Given the description of an element on the screen output the (x, y) to click on. 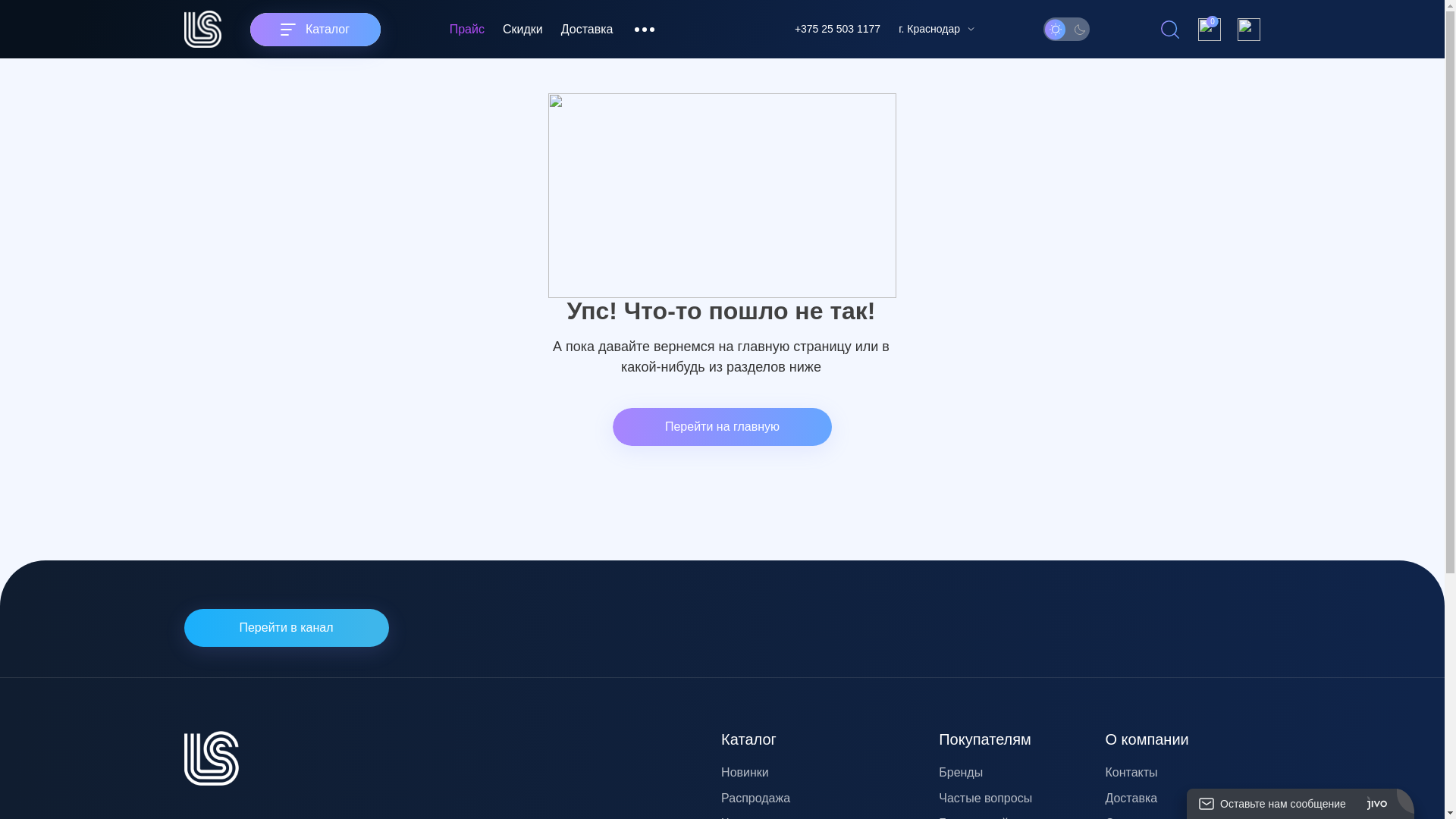
+375 25 503 1177 Element type: text (837, 28)
0 Element type: text (1209, 29)
